Given the description of an element on the screen output the (x, y) to click on. 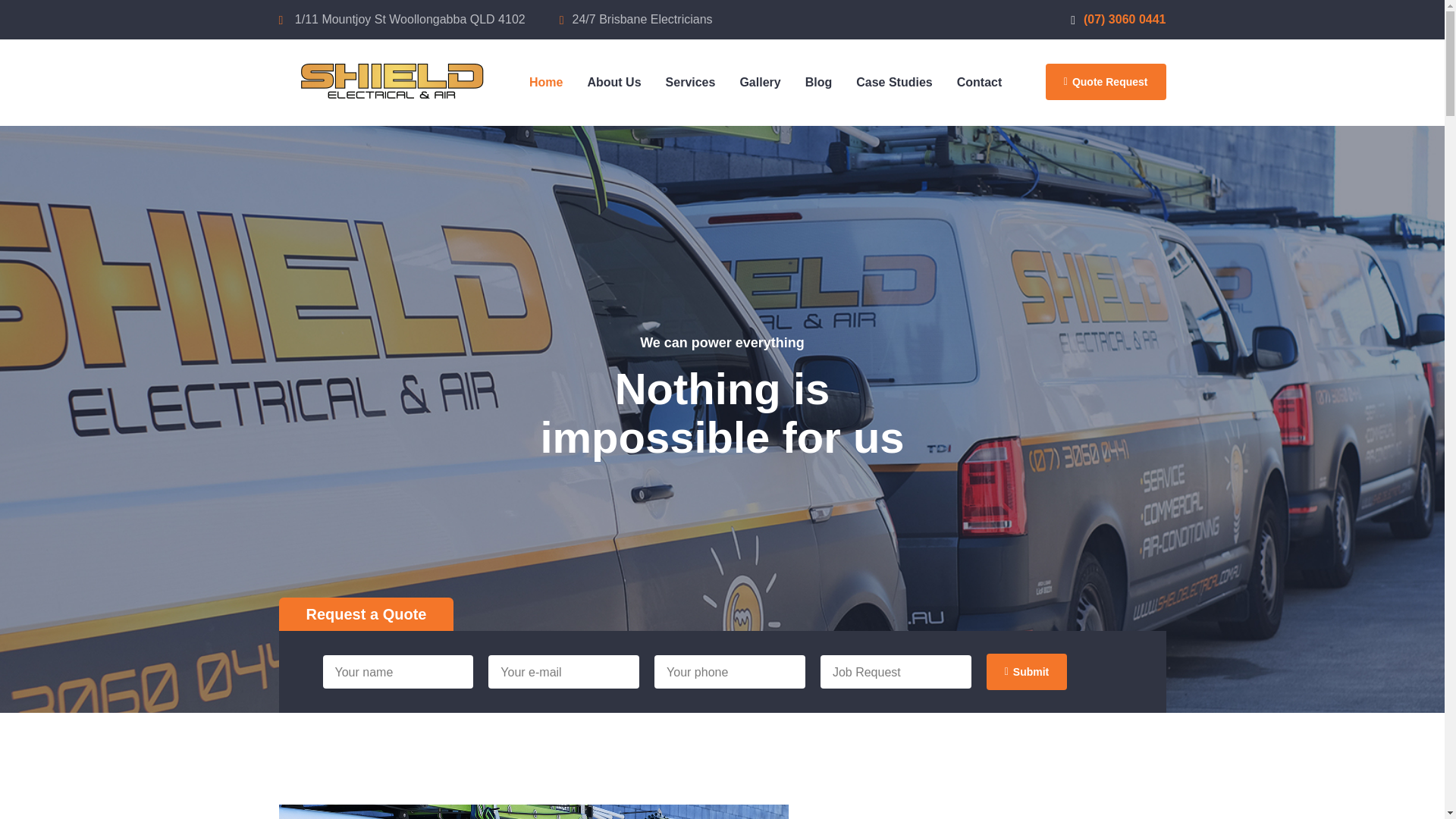
Quote Request (1105, 81)
Contact (979, 82)
Gallery (759, 82)
Services (690, 82)
About Us (613, 82)
Home (545, 82)
Blog (818, 82)
Submit (1027, 671)
Case Studies (893, 82)
